Given the description of an element on the screen output the (x, y) to click on. 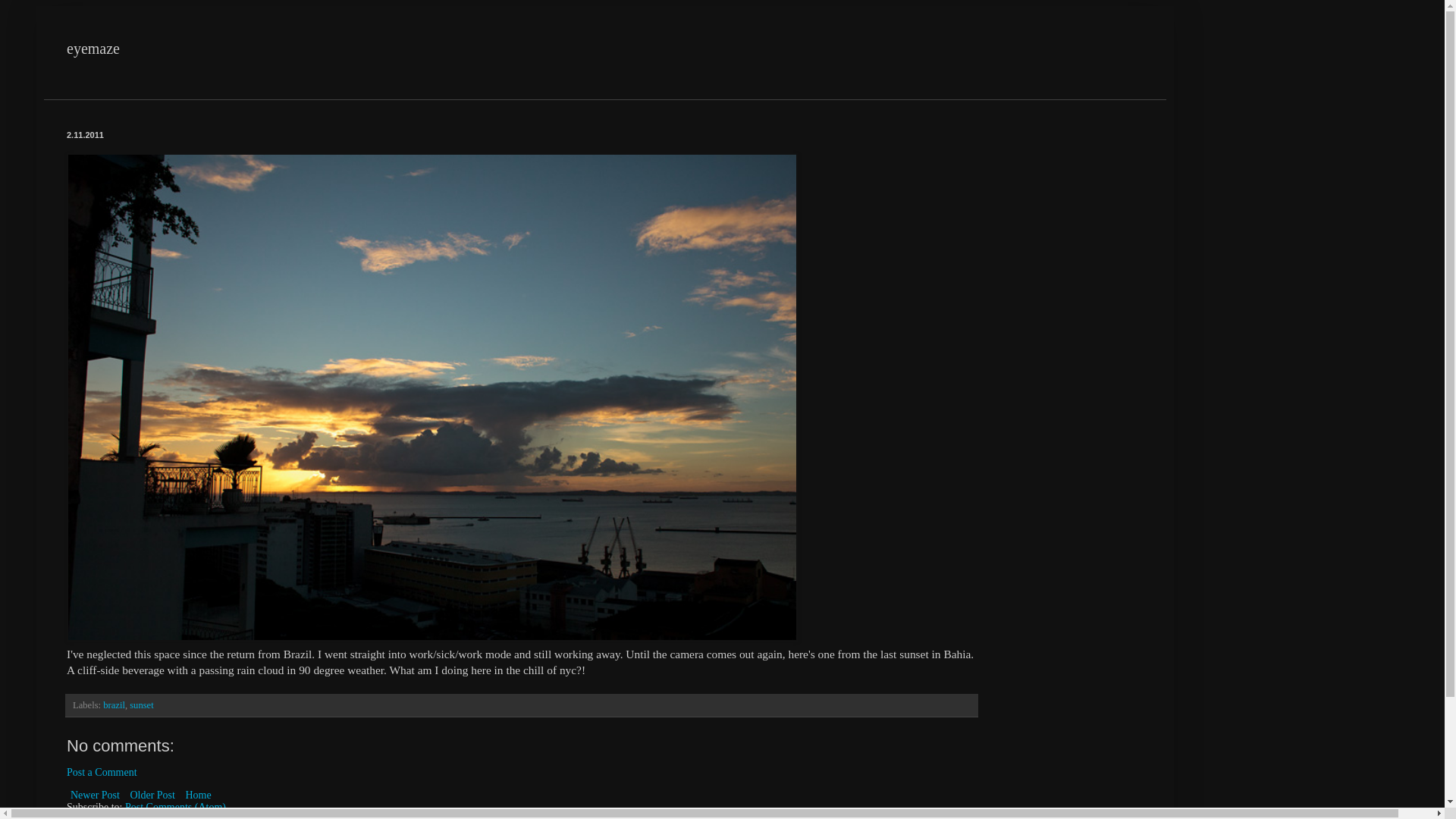
Newer Post (94, 794)
eyemaze (92, 48)
Newer Post (94, 794)
Older Post (152, 794)
brazil (114, 705)
Home (197, 794)
sunset (140, 705)
Older Post (152, 794)
Post a Comment (101, 772)
